Given the description of an element on the screen output the (x, y) to click on. 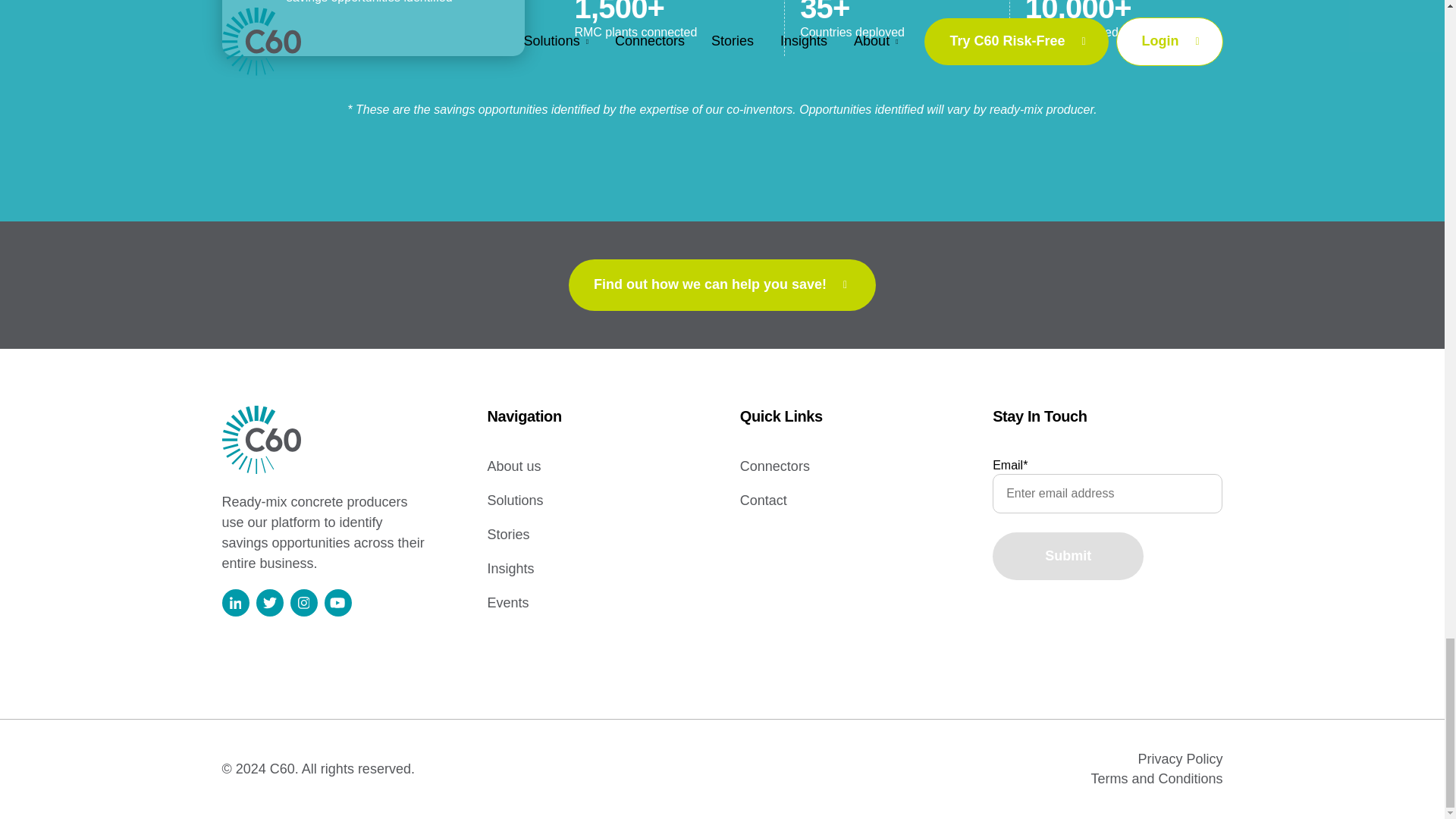
Follow us on Facebook (337, 602)
Follow us on Instagram (303, 602)
Follow us on Twitter (269, 602)
Submit (1067, 555)
Follow us on Facebook (338, 602)
Find out how we can help you save! (722, 284)
Follow us on LinkedIn (234, 602)
About us (513, 466)
Follow us on Twitter (269, 602)
